Given the description of an element on the screen output the (x, y) to click on. 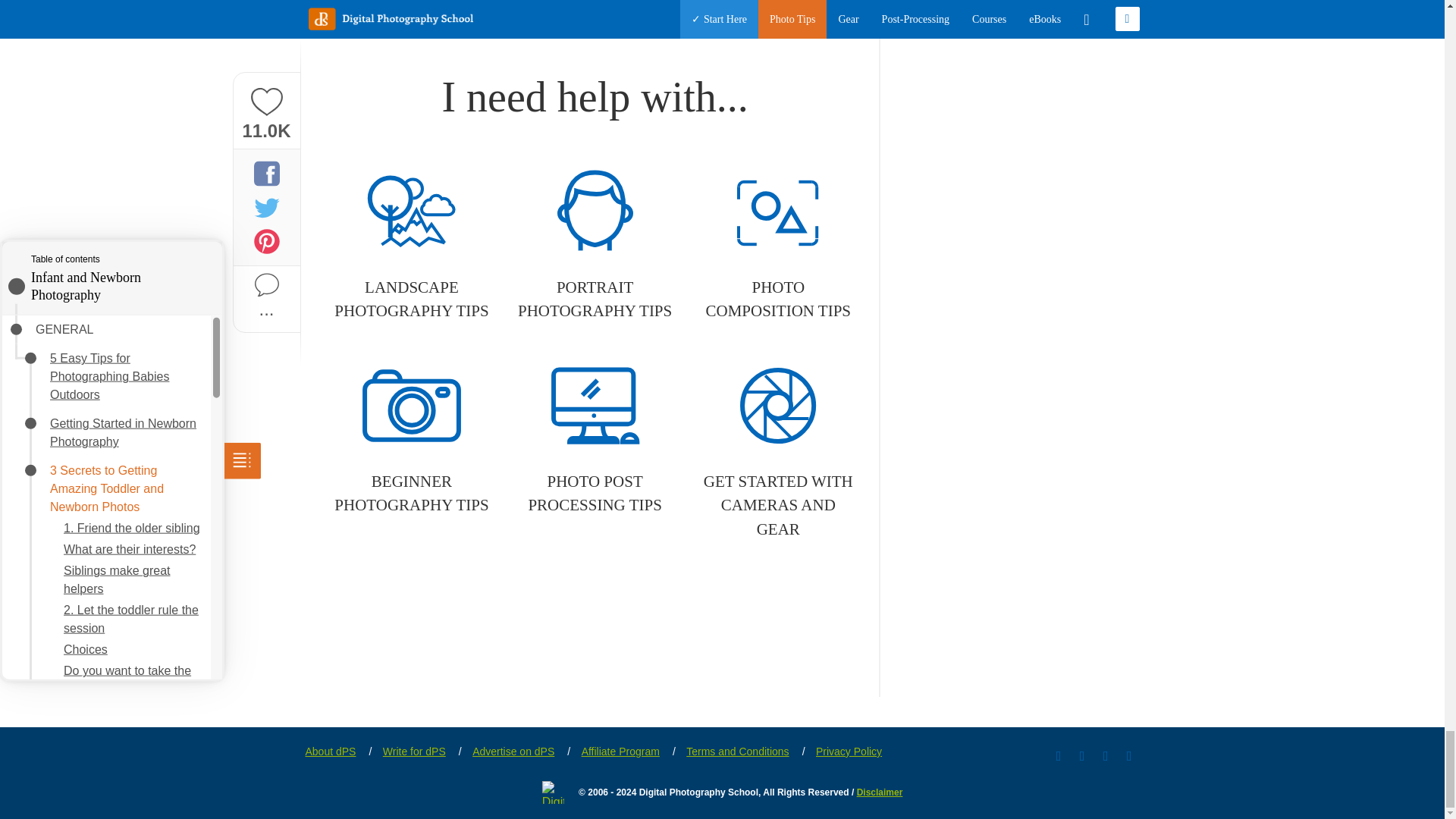
Portrait Photography Tips (595, 245)
Landscape Photography Tips (411, 245)
Beginner Photography Tips (411, 439)
Photo Composition Tips (778, 245)
